Given the description of an element on the screen output the (x, y) to click on. 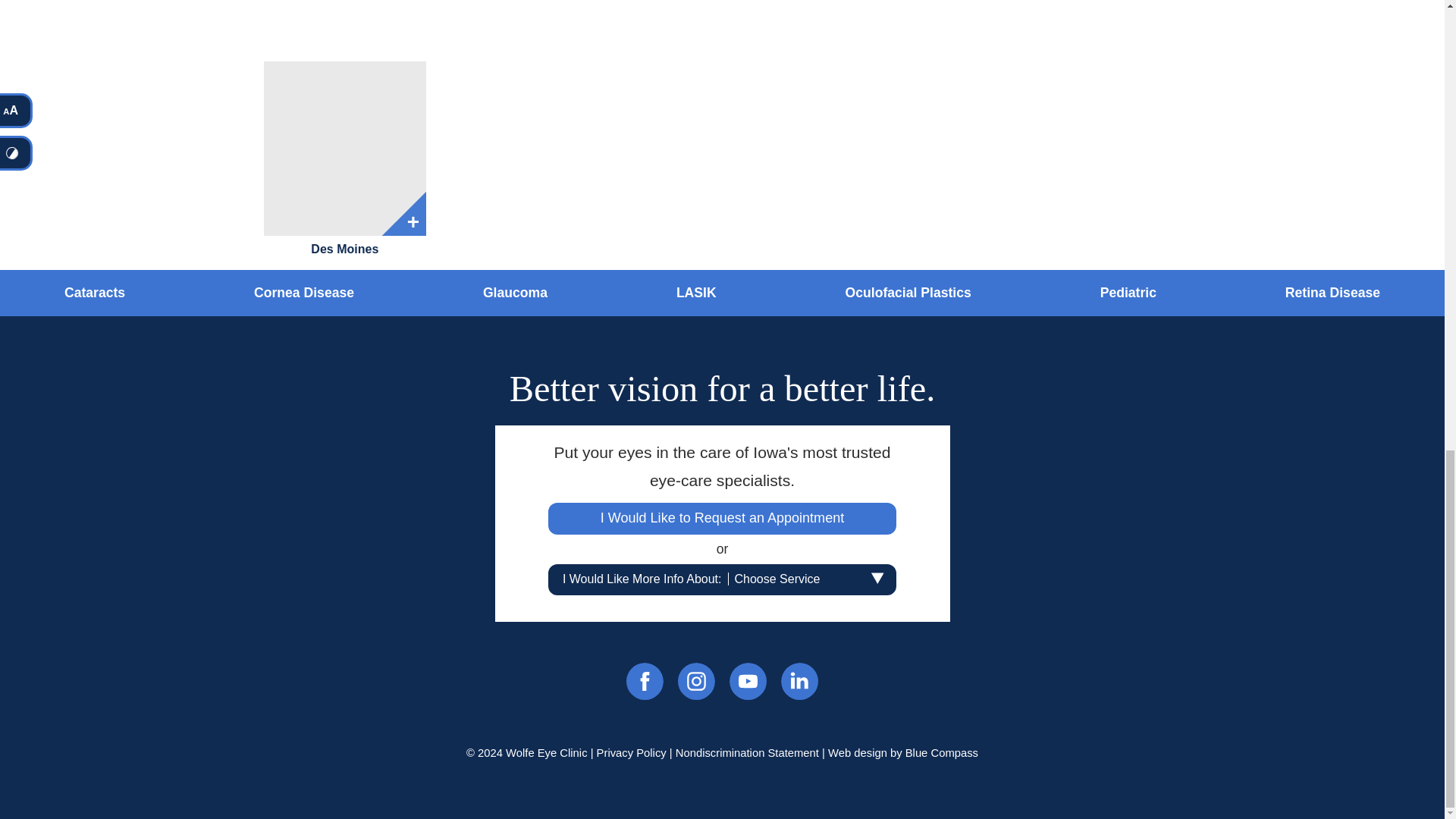
Des Moines (344, 148)
